Given the description of an element on the screen output the (x, y) to click on. 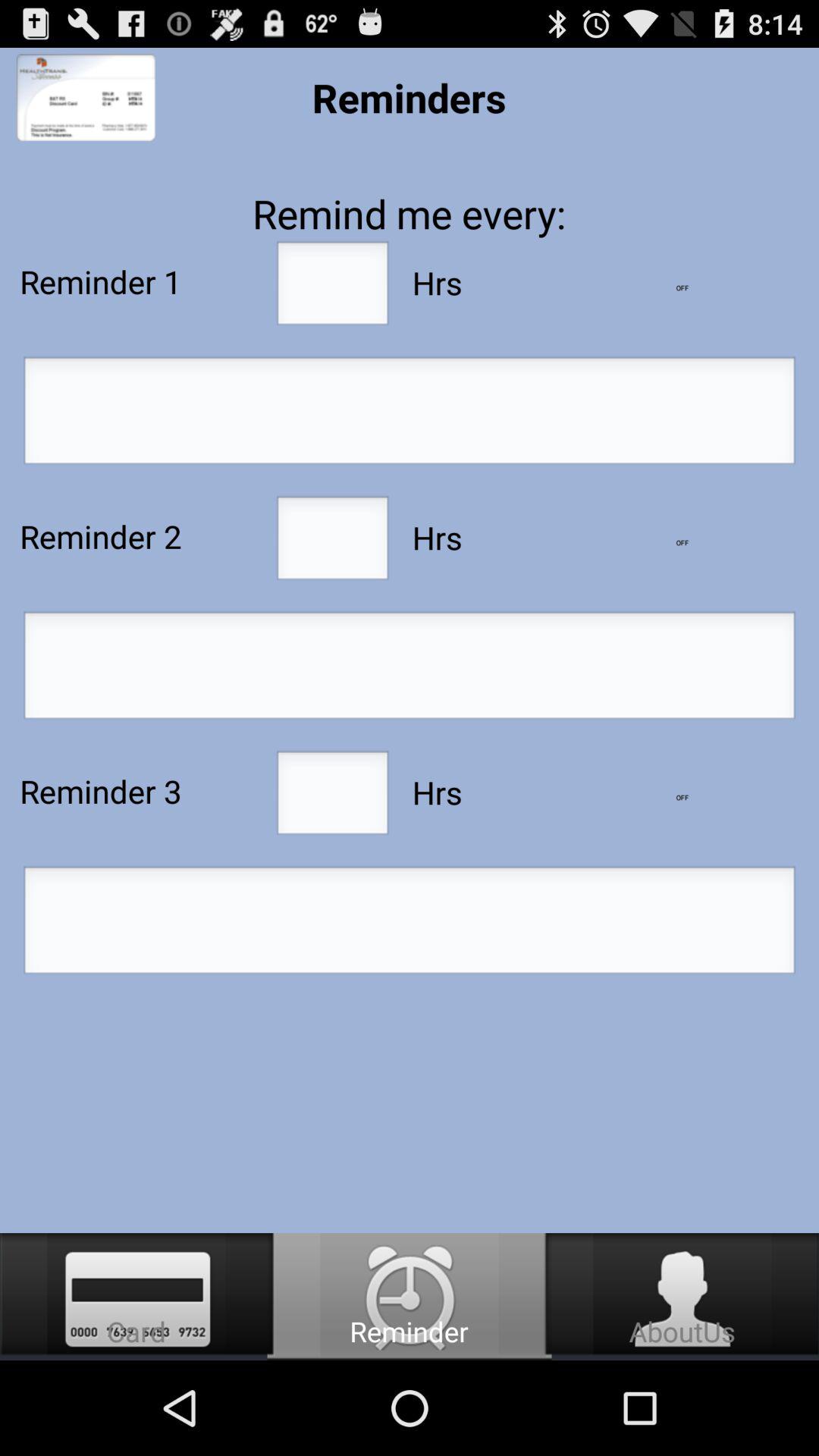
enter number (332, 542)
